Given the description of an element on the screen output the (x, y) to click on. 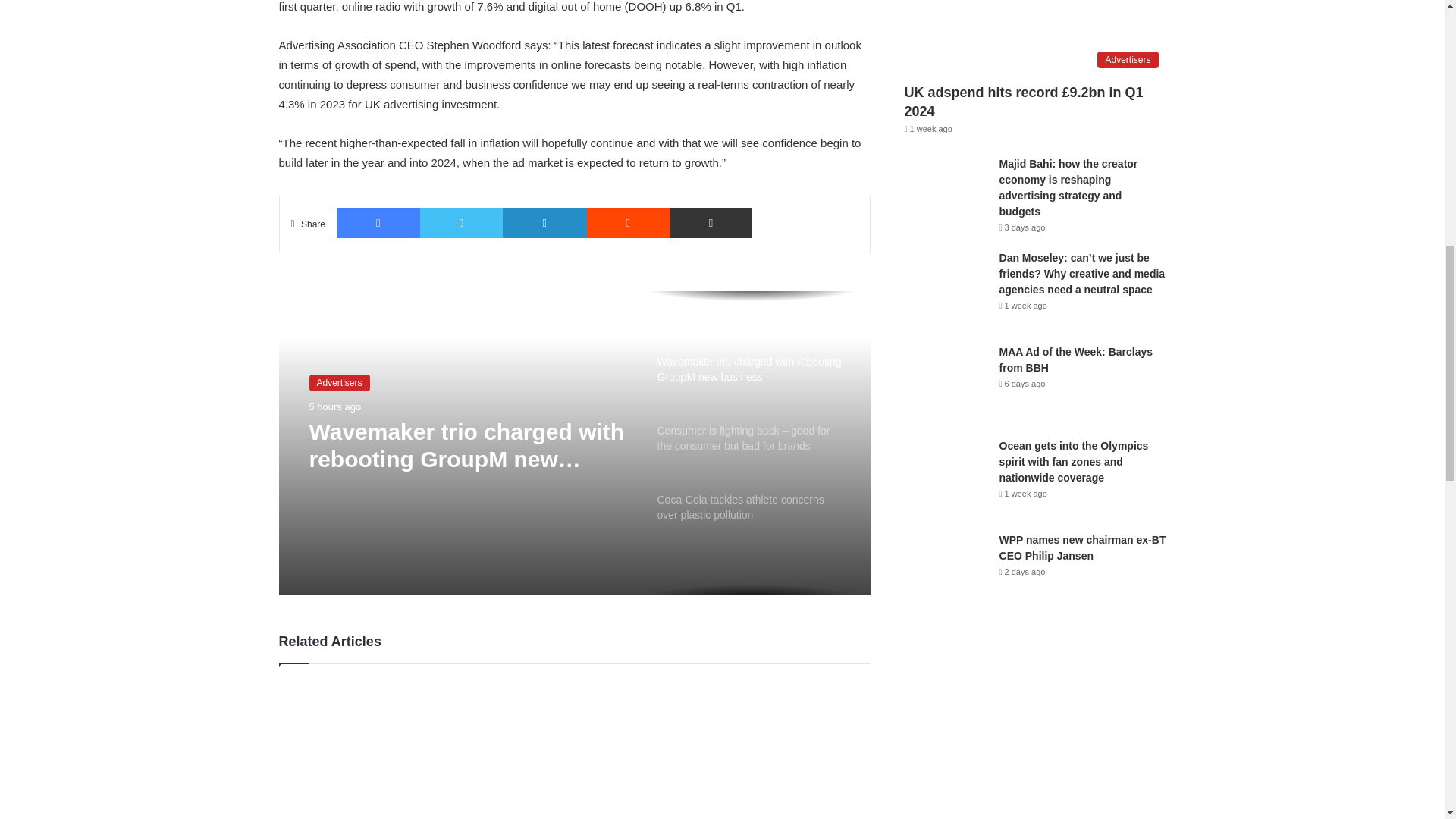
LinkedIn (544, 223)
Twitter (461, 223)
Share via Email (710, 223)
Twitter (461, 223)
Reddit (627, 223)
LinkedIn (544, 223)
Share via Email (710, 223)
Reddit (627, 223)
Facebook (378, 223)
Facebook (378, 223)
